Given the description of an element on the screen output the (x, y) to click on. 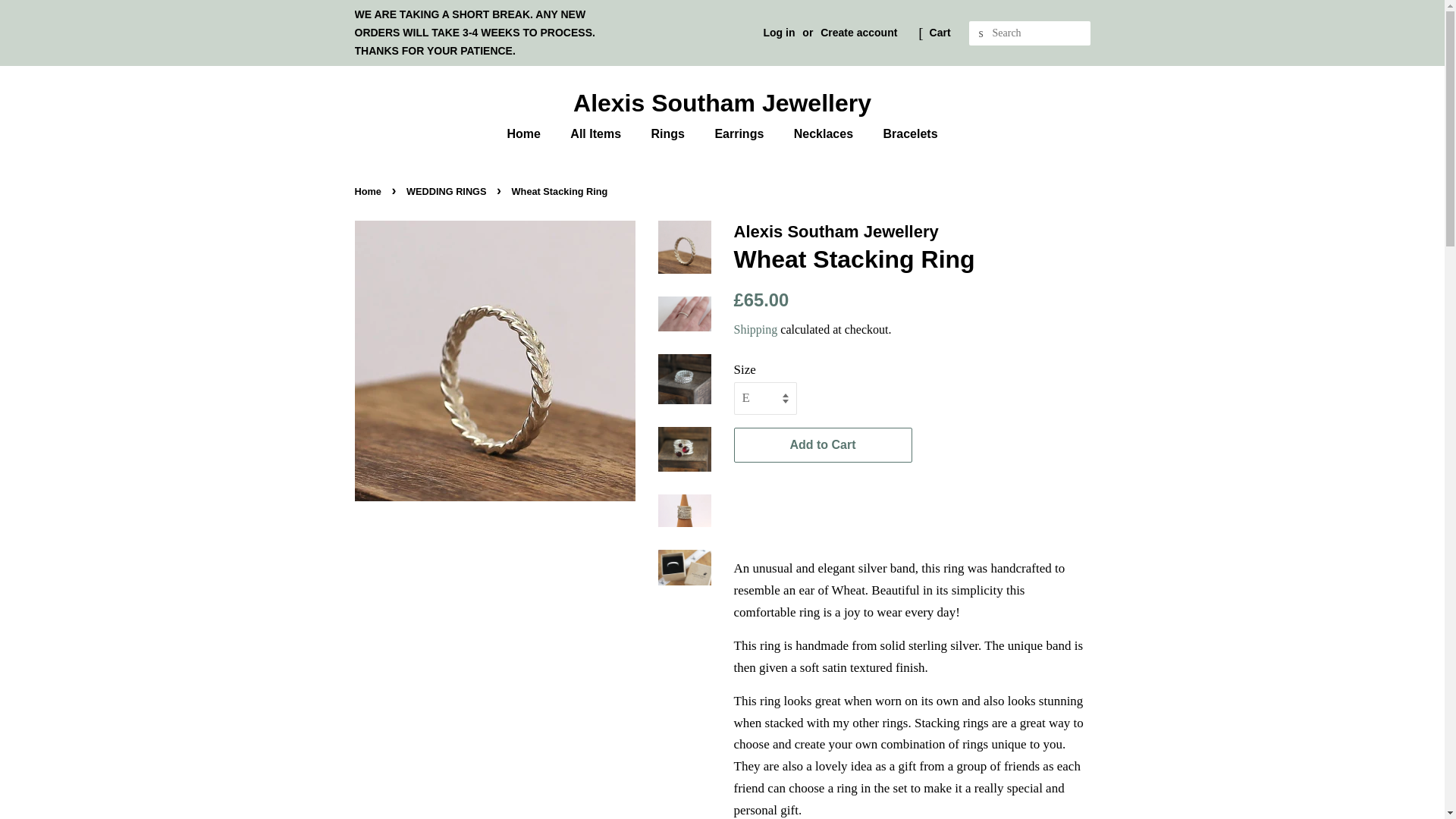
Necklaces (825, 133)
Shipping (755, 328)
Add to Cart (822, 445)
Earrings (740, 133)
Home (530, 133)
All Items (597, 133)
Home (370, 191)
Back to the frontpage (370, 191)
WEDDING RINGS (448, 191)
Cart (940, 33)
